Given the description of an element on the screen output the (x, y) to click on. 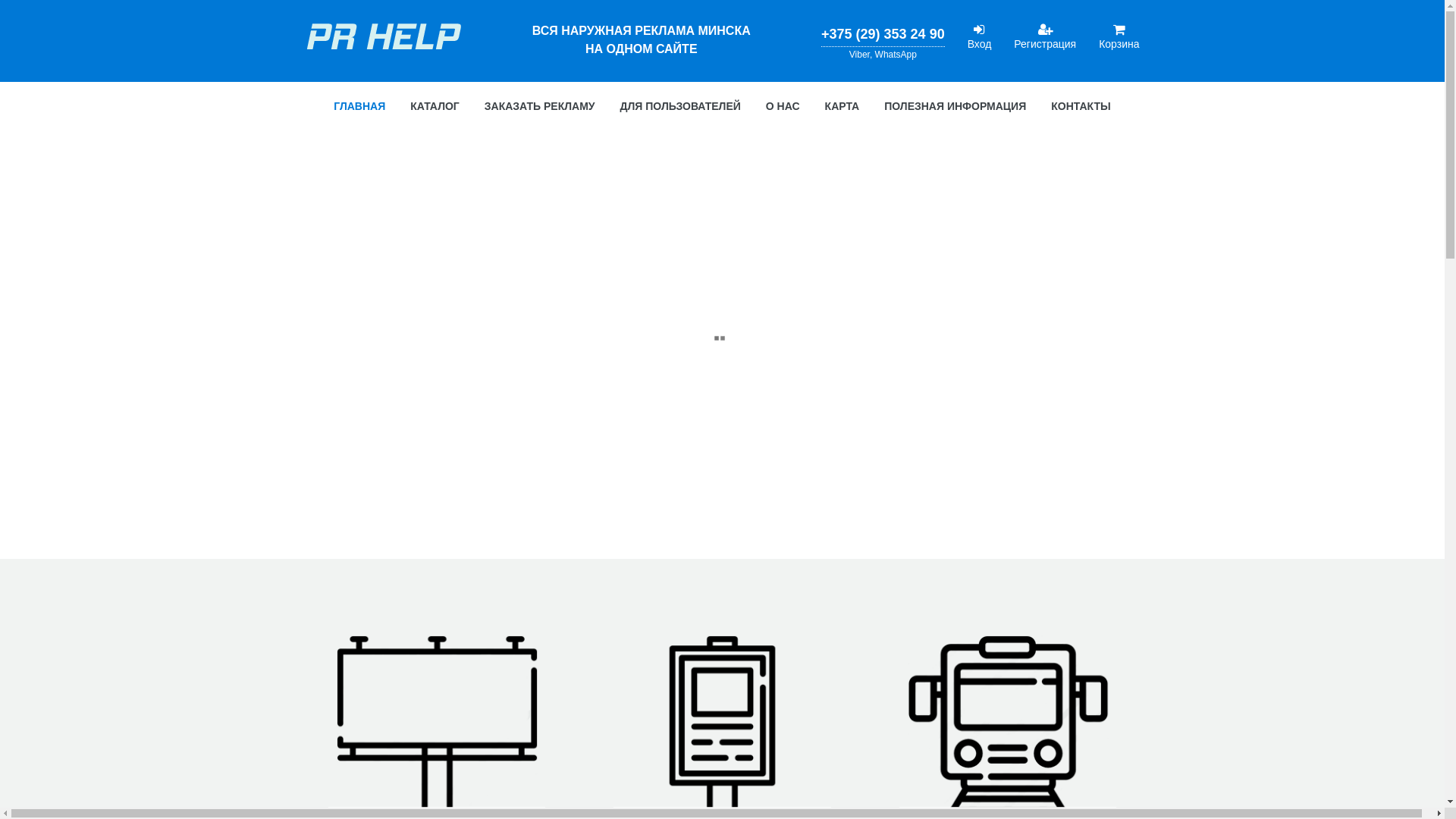
+375 (29) 353 24 90 Element type: text (882, 33)
